Given the description of an element on the screen output the (x, y) to click on. 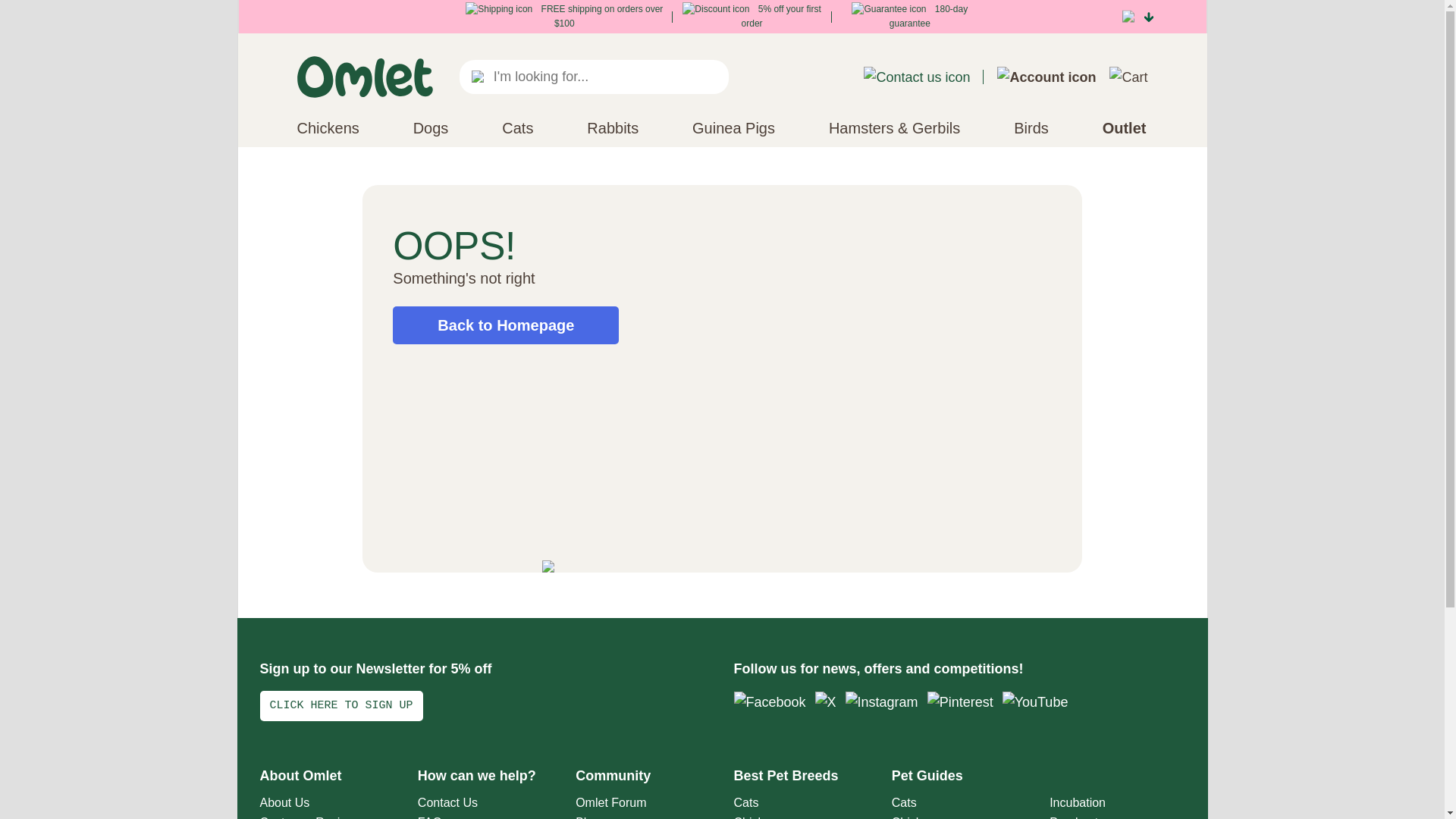
Guarantee icon (888, 9)
180-day guarantee (909, 16)
United States (1131, 17)
Account (1046, 77)
Omlet (364, 76)
Shipping (498, 9)
Chickens (328, 127)
Contact us (916, 77)
Discount icon (715, 9)
Cart (1128, 77)
